Given the description of an element on the screen output the (x, y) to click on. 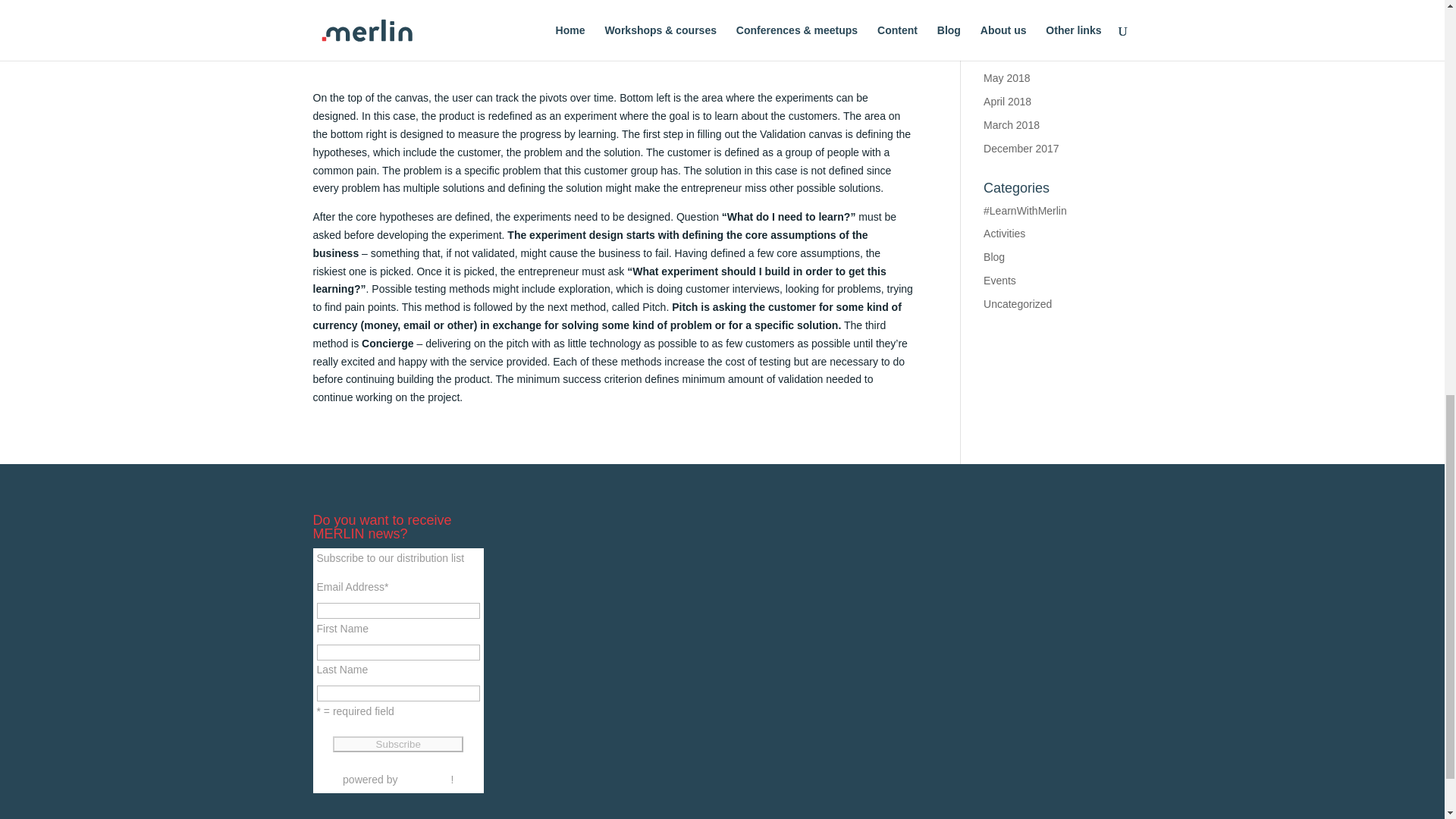
May 2018 (1006, 78)
March 2018 (1011, 124)
July 2018 (1006, 31)
June 2018 (1008, 55)
December 2017 (1021, 148)
Subscribe (398, 744)
April 2018 (1007, 101)
September 2018 (1023, 8)
